Given the description of an element on the screen output the (x, y) to click on. 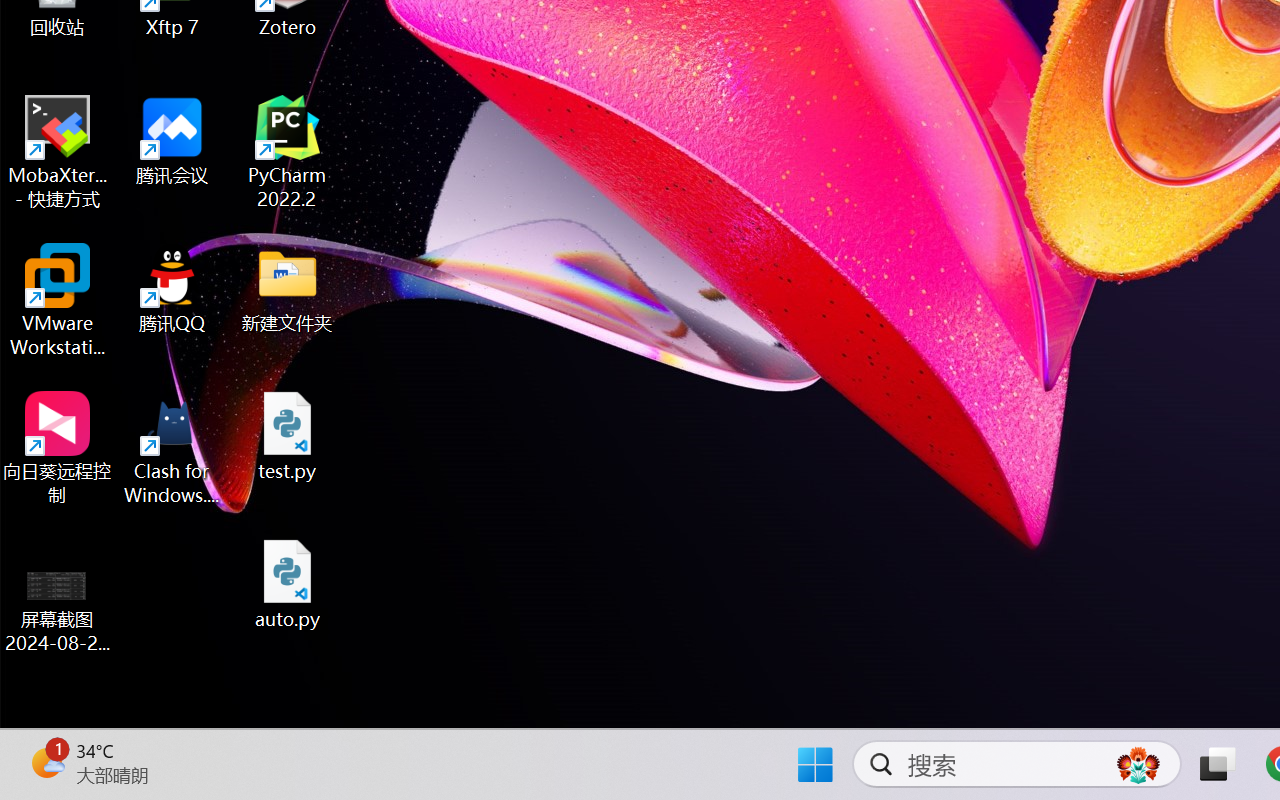
auto.py (287, 584)
test.py (287, 436)
VMware Workstation Pro (57, 300)
PyCharm 2022.2 (287, 152)
